Given the description of an element on the screen output the (x, y) to click on. 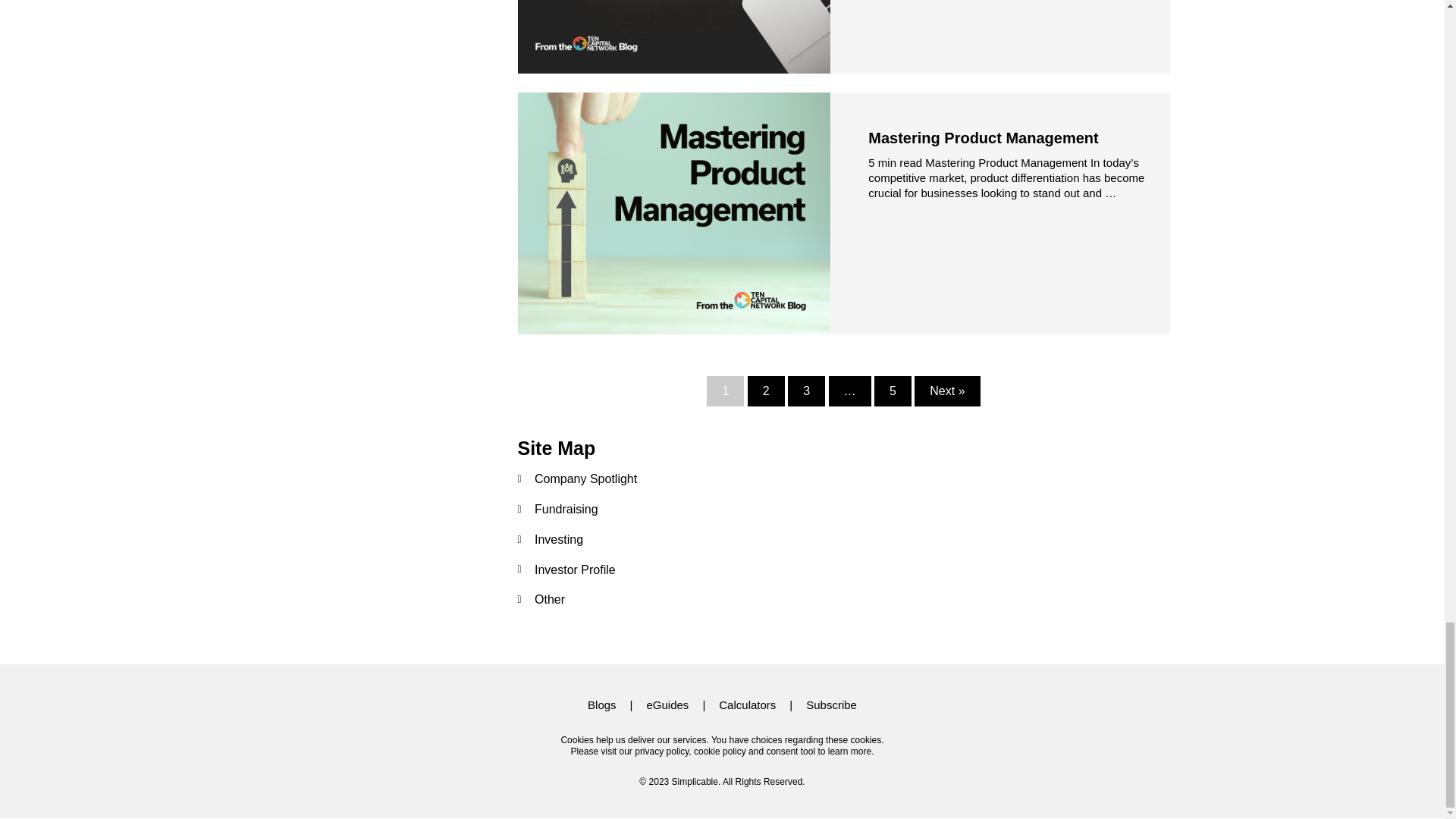
Other (842, 599)
3 (806, 390)
Mastering Product Management (982, 137)
2 (766, 390)
Investor Profile (842, 569)
Company Spotlight (842, 478)
Investing (842, 539)
5 (893, 390)
Fundraising (842, 508)
